Given the description of an element on the screen output the (x, y) to click on. 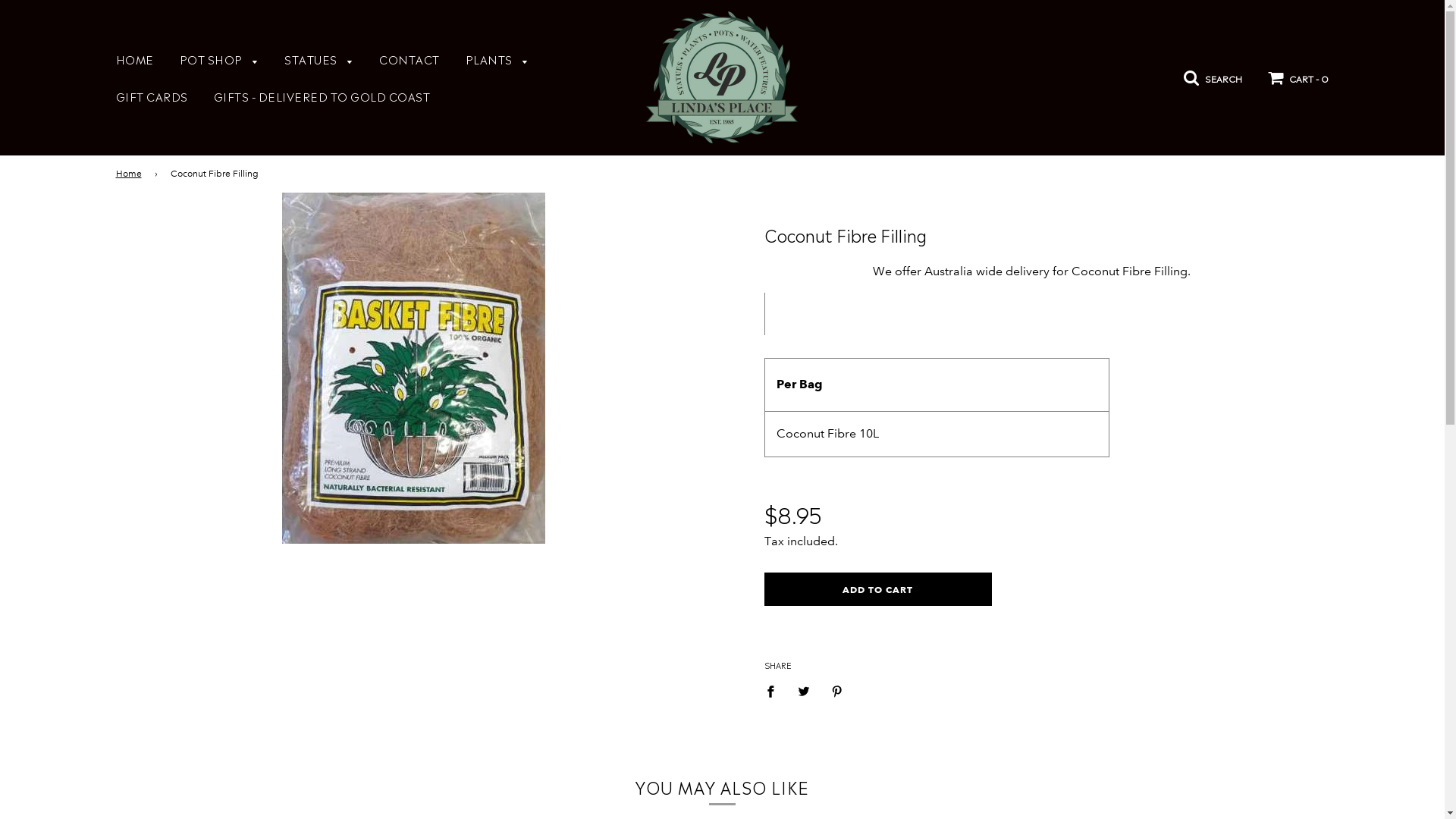
GIFT CARDS Element type: text (151, 95)
STATUES Element type: text (318, 59)
SEARCH Element type: text (1212, 74)
PLANTS Element type: text (496, 59)
ADD TO CART Element type: text (877, 588)
CART - 0 Element type: text (1297, 75)
HOME Element type: text (134, 58)
Home Element type: text (130, 173)
POT SHOP Element type: text (219, 59)
CONTACT Element type: text (409, 58)
GIFTS - DELIVERED TO GOLD COAST Element type: text (315, 95)
